Given the description of an element on the screen output the (x, y) to click on. 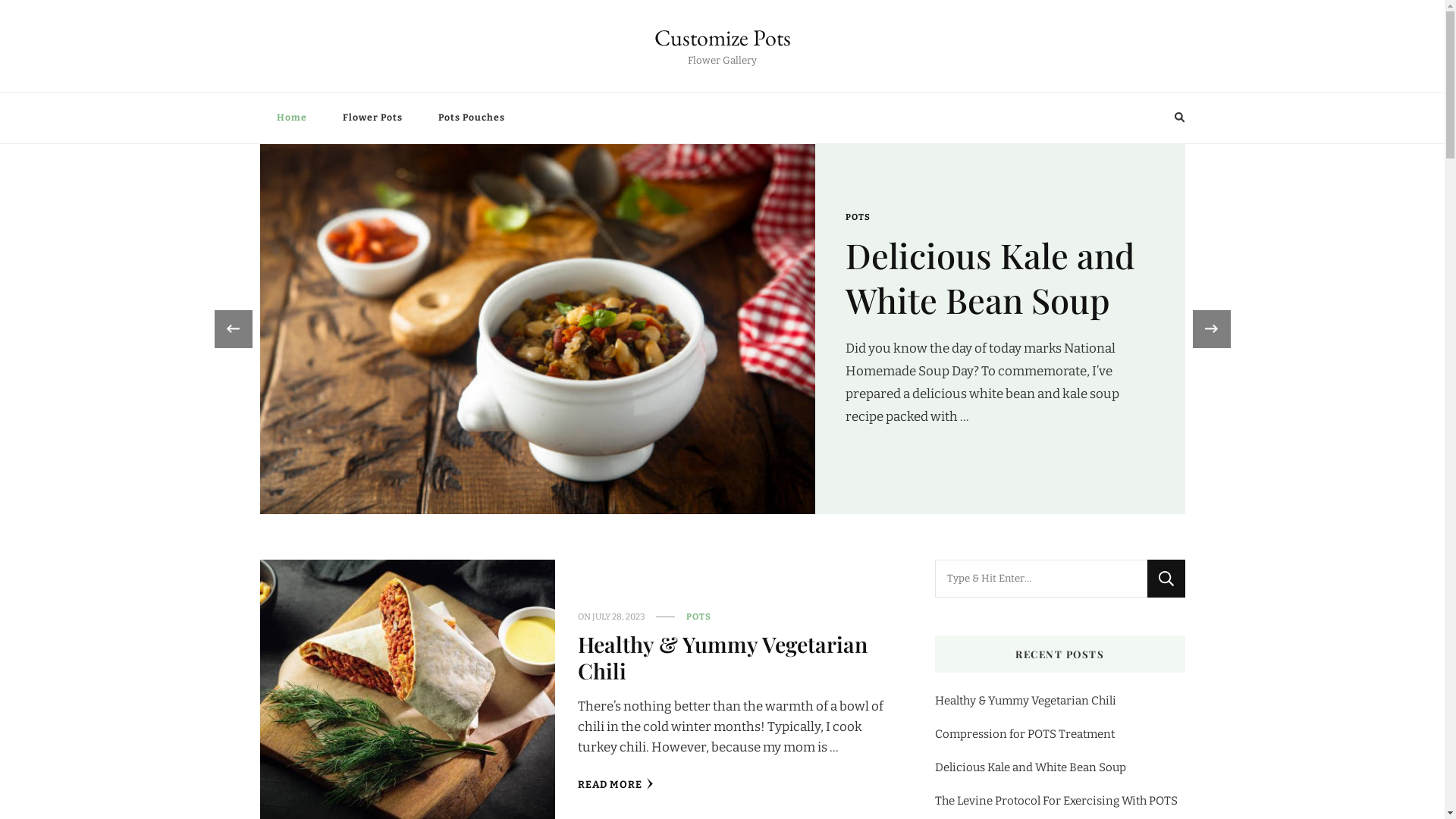
Search Element type: text (1151, 117)
Flower Pots Element type: text (372, 117)
The Levine Protocol For Exercising With POTS Element type: text (1055, 800)
Customize Pots Element type: text (721, 37)
Compression for POTS Treatment Element type: text (975, 288)
Healthy & Yummy Vegetarian Chili Element type: text (1024, 700)
Search Element type: text (1165, 578)
Home Element type: text (291, 117)
Delicious Kale and White Bean Soup Element type: text (1029, 767)
READ MORE Element type: text (615, 784)
Pots Pouches Element type: text (471, 117)
Healthy & Yummy Vegetarian Chili Element type: text (722, 656)
POTS Element type: text (856, 228)
JULY 28, 2023 Element type: text (618, 616)
POTS Element type: text (698, 616)
Compression for POTS Treatment Element type: text (1023, 733)
